Given the description of an element on the screen output the (x, y) to click on. 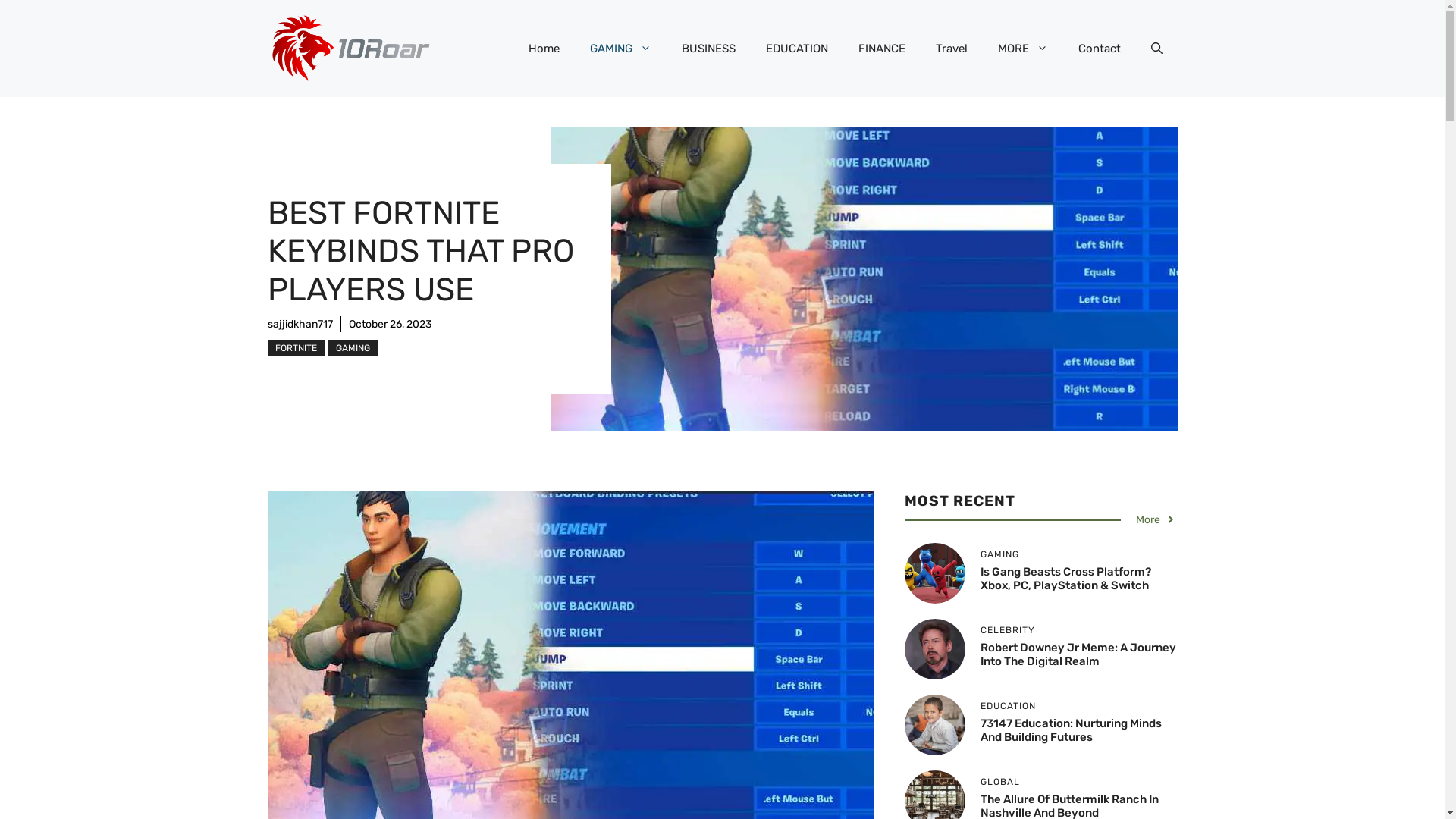
Contact Element type: text (1099, 48)
73147 Education: Nurturing Minds And Building Futures Element type: text (1070, 729)
sajjidkhan717 Element type: text (299, 323)
Travel Element type: text (951, 48)
FORTNITE Element type: text (294, 347)
FINANCE Element type: text (881, 48)
More Element type: text (1155, 519)
Robert Downey Jr Meme: A Journey Into The Digital Realm Element type: text (1077, 654)
MORE Element type: text (1022, 48)
GAMING Element type: text (620, 48)
Home Element type: text (543, 48)
GAMING Element type: text (351, 347)
EDUCATION Element type: text (796, 48)
BUSINESS Element type: text (707, 48)
